Given the description of an element on the screen output the (x, y) to click on. 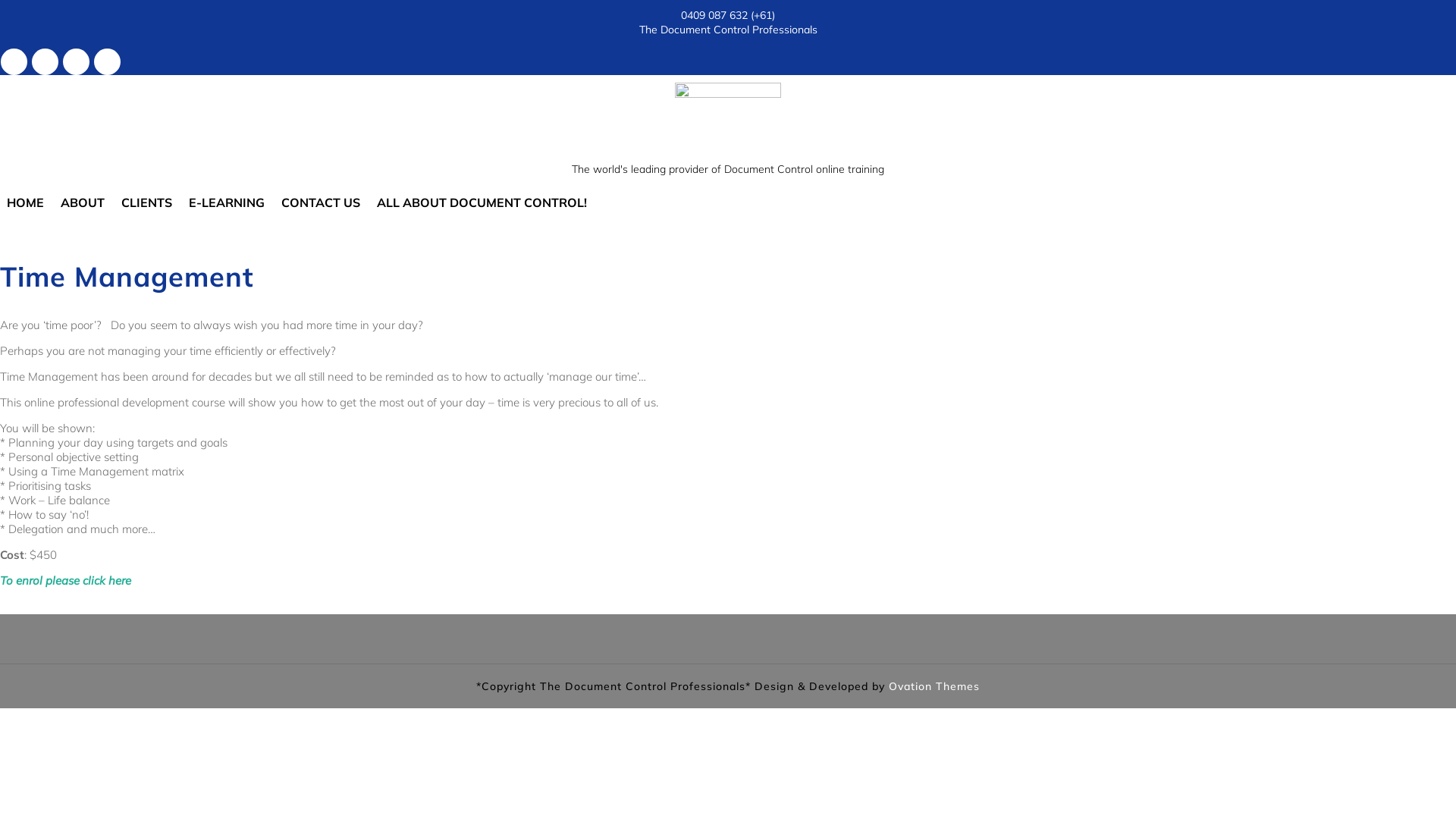
Ovation Themes Element type: text (931, 686)
ABOUT Element type: text (82, 202)
ALL ABOUT DOCUMENT CONTROL! Element type: text (481, 202)
E-LEARNING Element type: text (226, 202)
CONTACT US Element type: text (320, 202)
CLIENTS Element type: text (146, 202)
To enrol please click here Element type: text (65, 580)
HOME Element type: text (24, 202)
